Given the description of an element on the screen output the (x, y) to click on. 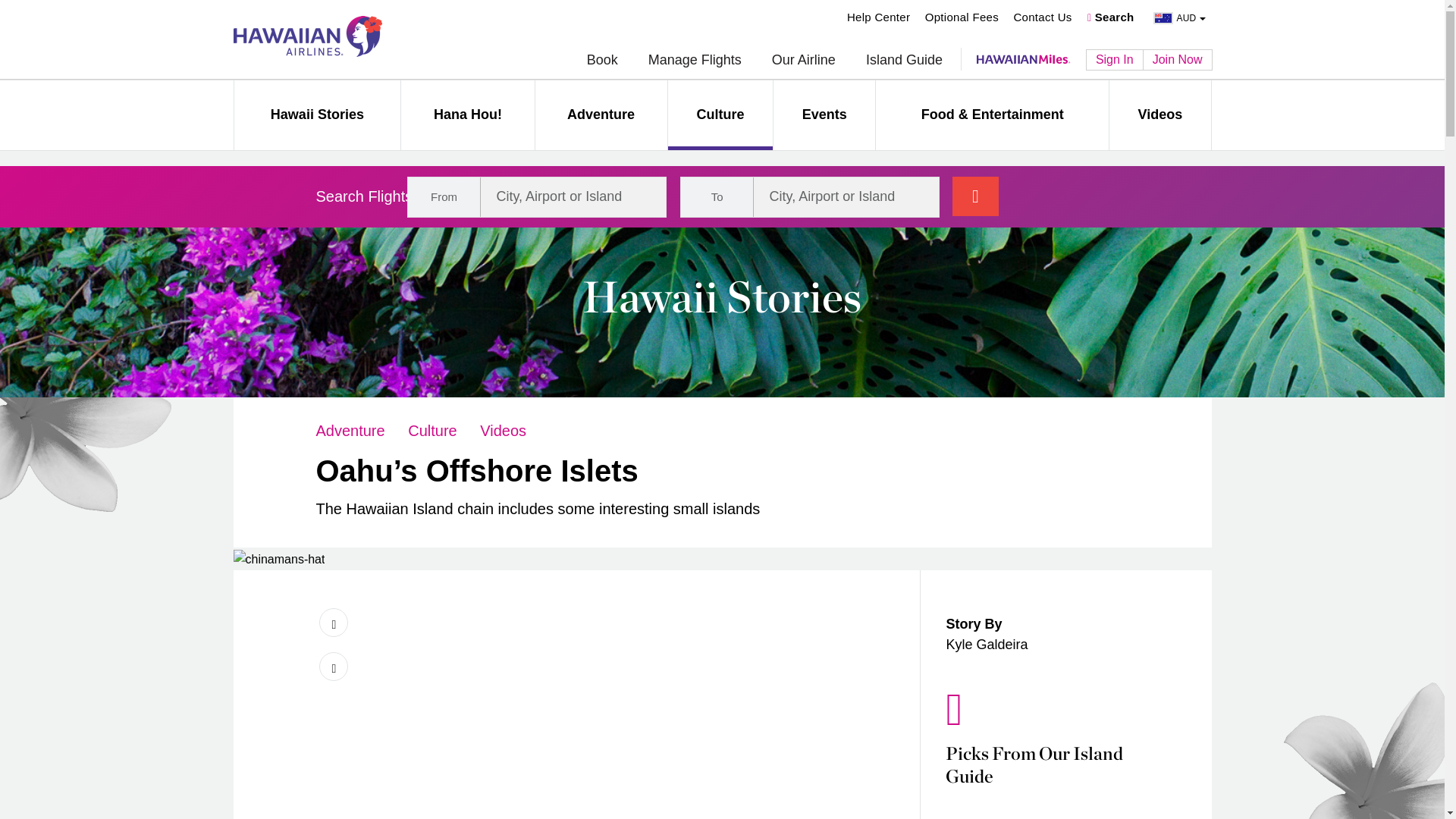
Contact Us (1042, 16)
Culture (720, 115)
Culture (432, 430)
Videos (1159, 115)
Book (601, 61)
Visit Us On Twitter (332, 665)
Hana Hou! (467, 115)
Join Now (1177, 59)
Manage Flights (694, 61)
Hawaiian Airlines (306, 35)
AUD (1174, 18)
Our Airline (803, 61)
Island Guide (904, 61)
Search (1110, 17)
Hawaii Stories (316, 115)
